Given the description of an element on the screen output the (x, y) to click on. 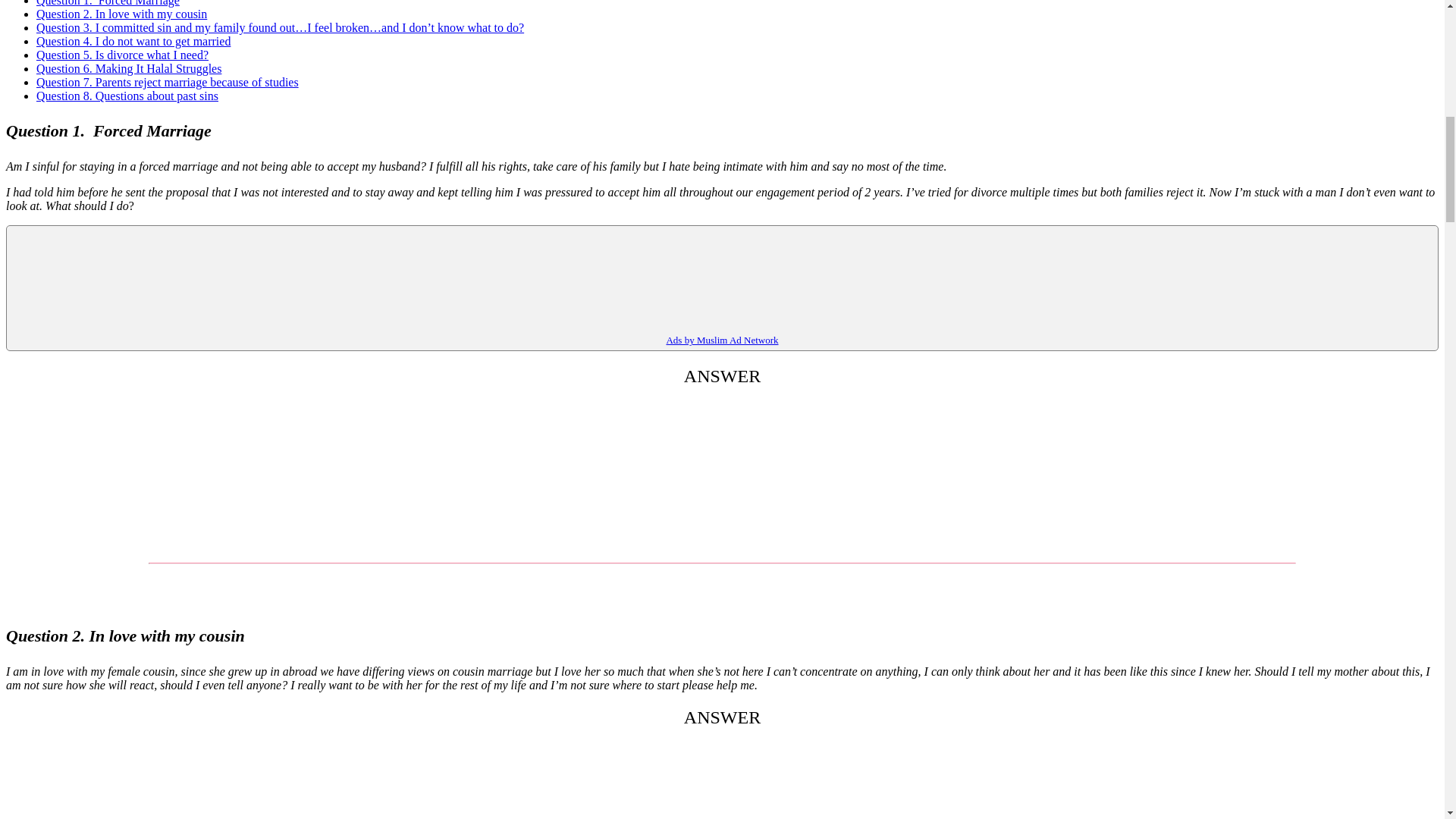
Question 2. In love with my cousin (121, 13)
Question 4. I do not want to get married (133, 41)
Question 8. Questions about past sins (127, 95)
Question 7. Parents reject marriage because of studies (167, 82)
Question 5. Is divorce what I need? (122, 54)
Question 1.  Forced Marriage (107, 3)
Ads by Muslim Ad Network (721, 339)
Advertise and Market to Muslims (721, 339)
Question 6. Making It Halal Struggles (128, 68)
